Given the description of an element on the screen output the (x, y) to click on. 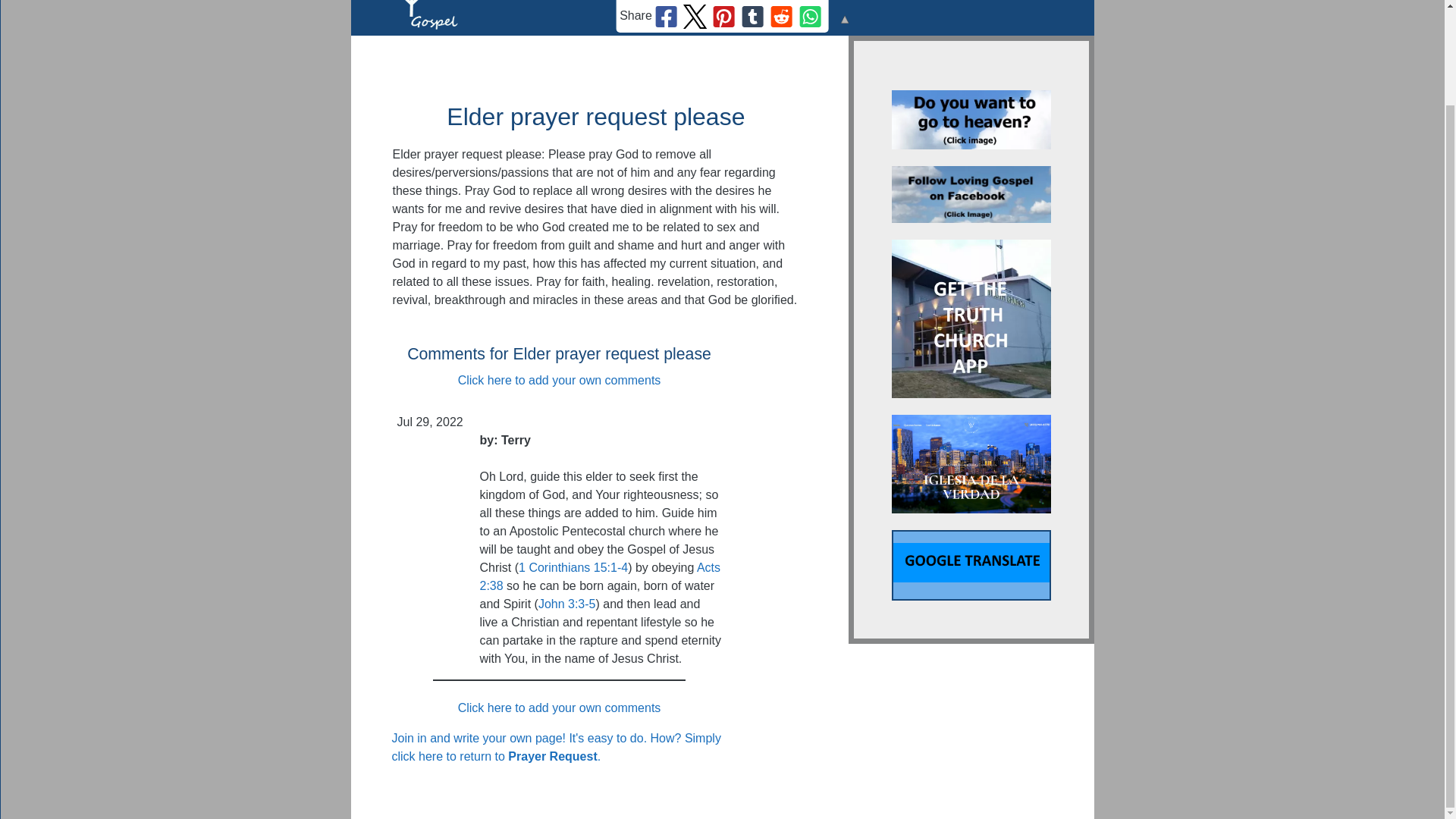
South Campus (970, 463)
Go to Truth Church App (970, 393)
Go to Do you want to go to heaven? (970, 144)
